Given the description of an element on the screen output the (x, y) to click on. 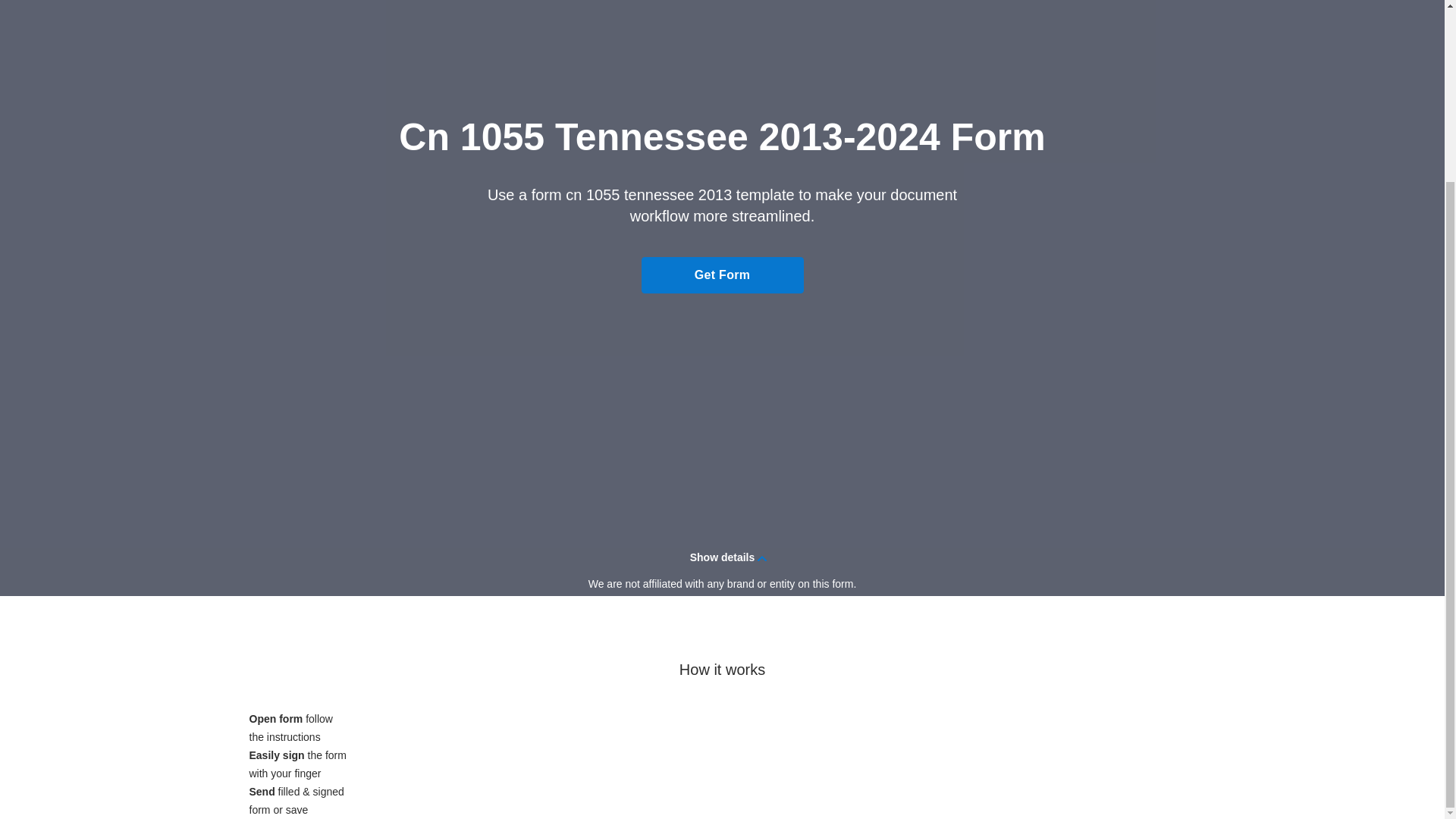
Show details (722, 557)
Get Form (722, 275)
